Given the description of an element on the screen output the (x, y) to click on. 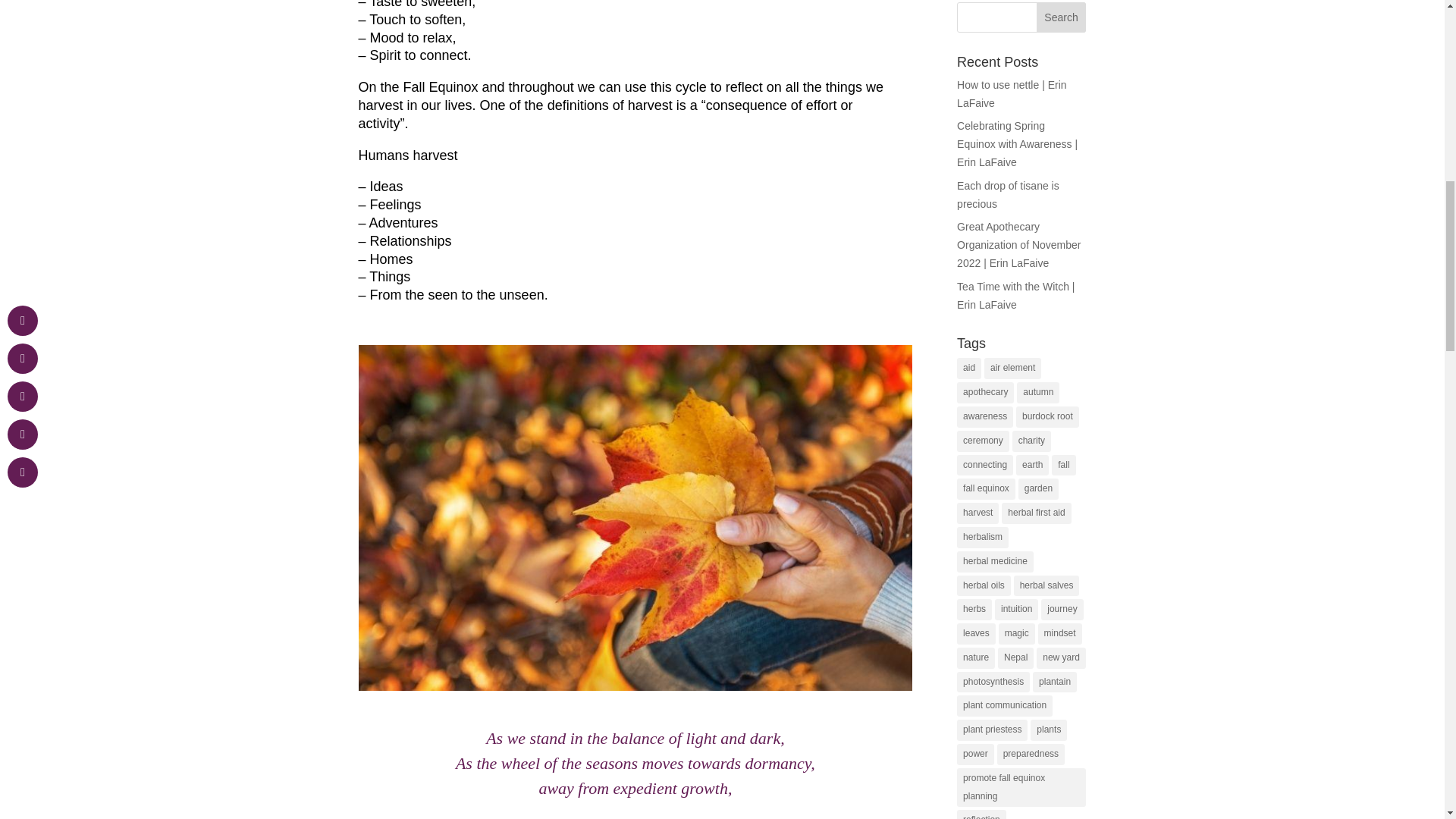
Search (1061, 17)
Search (1061, 17)
